Given the description of an element on the screen output the (x, y) to click on. 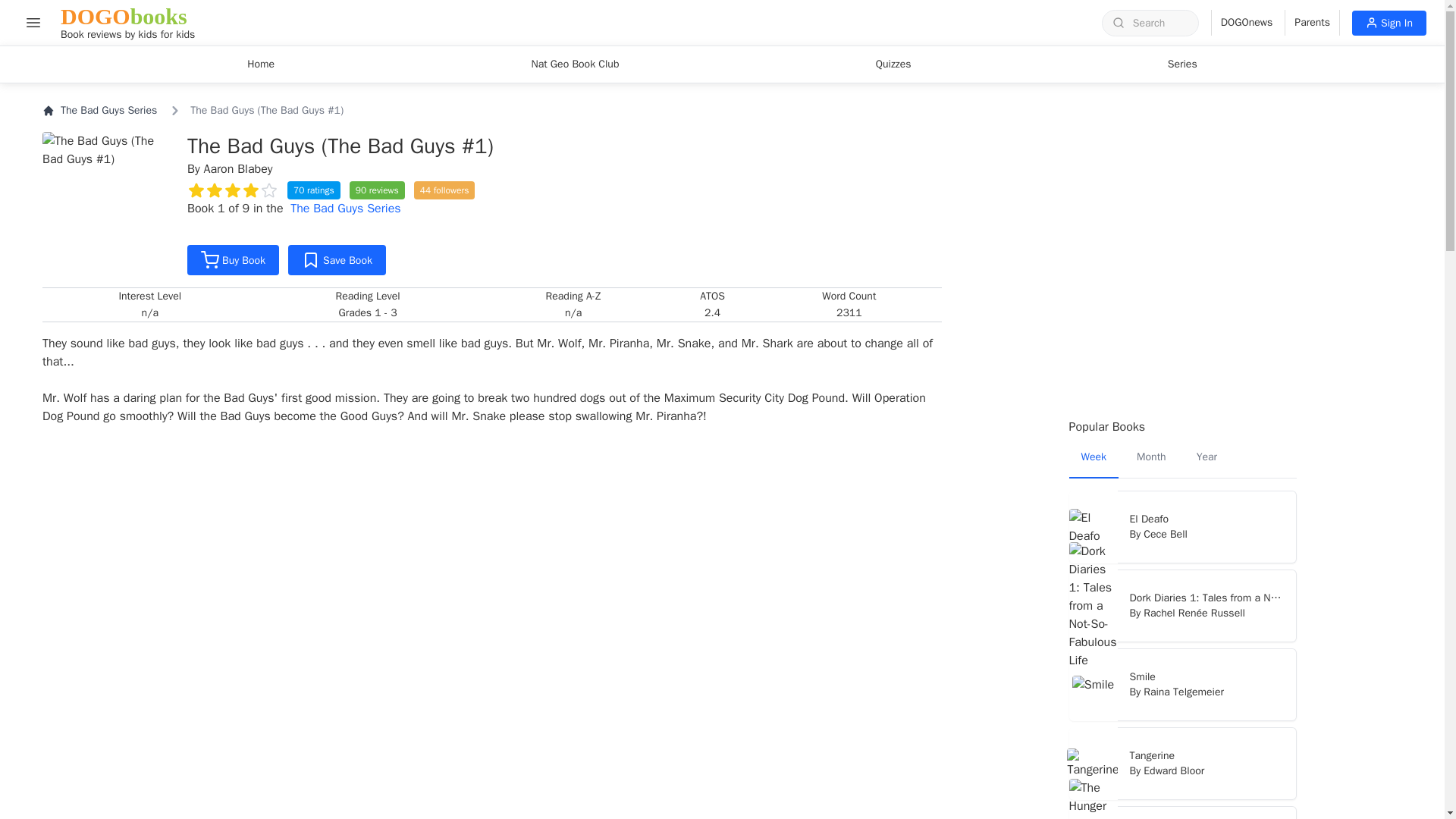
The Bad Guys Series (128, 22)
Open main menu (99, 110)
Sign In (33, 22)
Buy Book (1389, 23)
Save Book (233, 259)
Quizzes (336, 259)
DOGOnews (893, 63)
The Bad Guys Series (1241, 22)
Home (344, 208)
Nat Geo Book Club (260, 63)
Parents (574, 63)
3rd party ad content (1311, 22)
Series (1182, 196)
3rd party ad content (1182, 63)
